Given the description of an element on the screen output the (x, y) to click on. 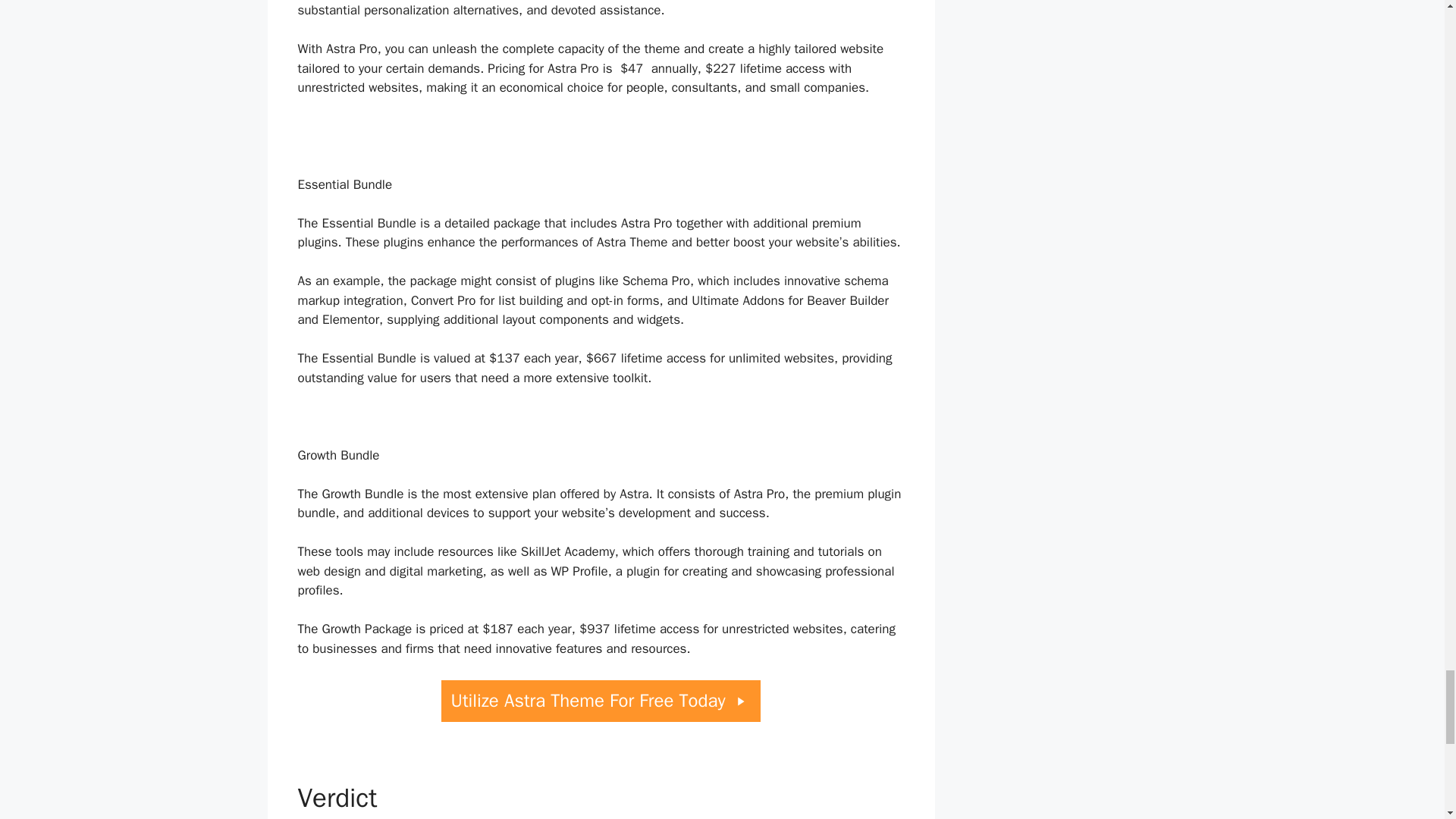
Utilize Astra Theme For Free Today (601, 700)
